Given the description of an element on the screen output the (x, y) to click on. 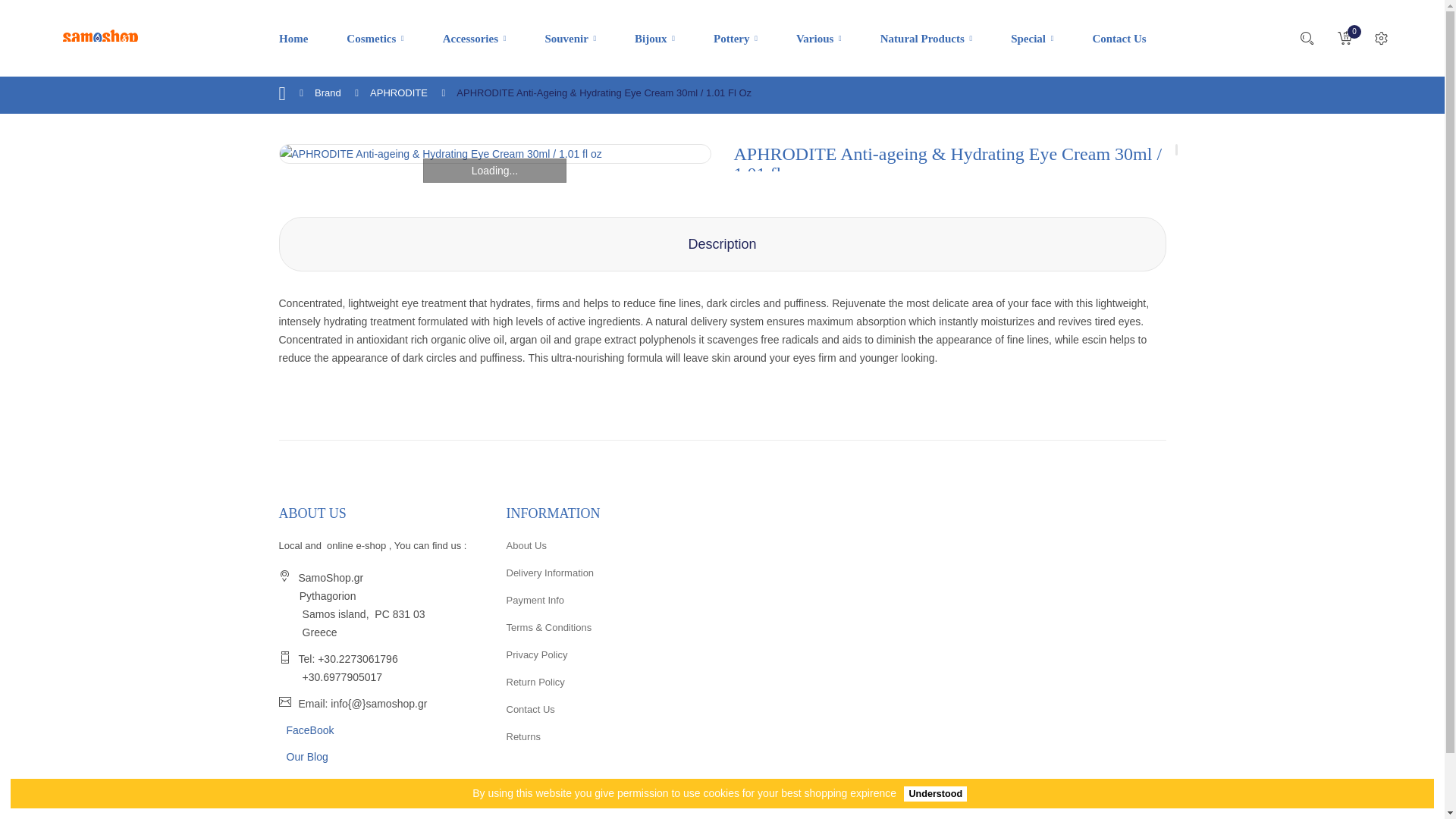
Compare this Product (944, 431)
Add to Wish List (902, 431)
1 (783, 380)
